Given the description of an element on the screen output the (x, y) to click on. 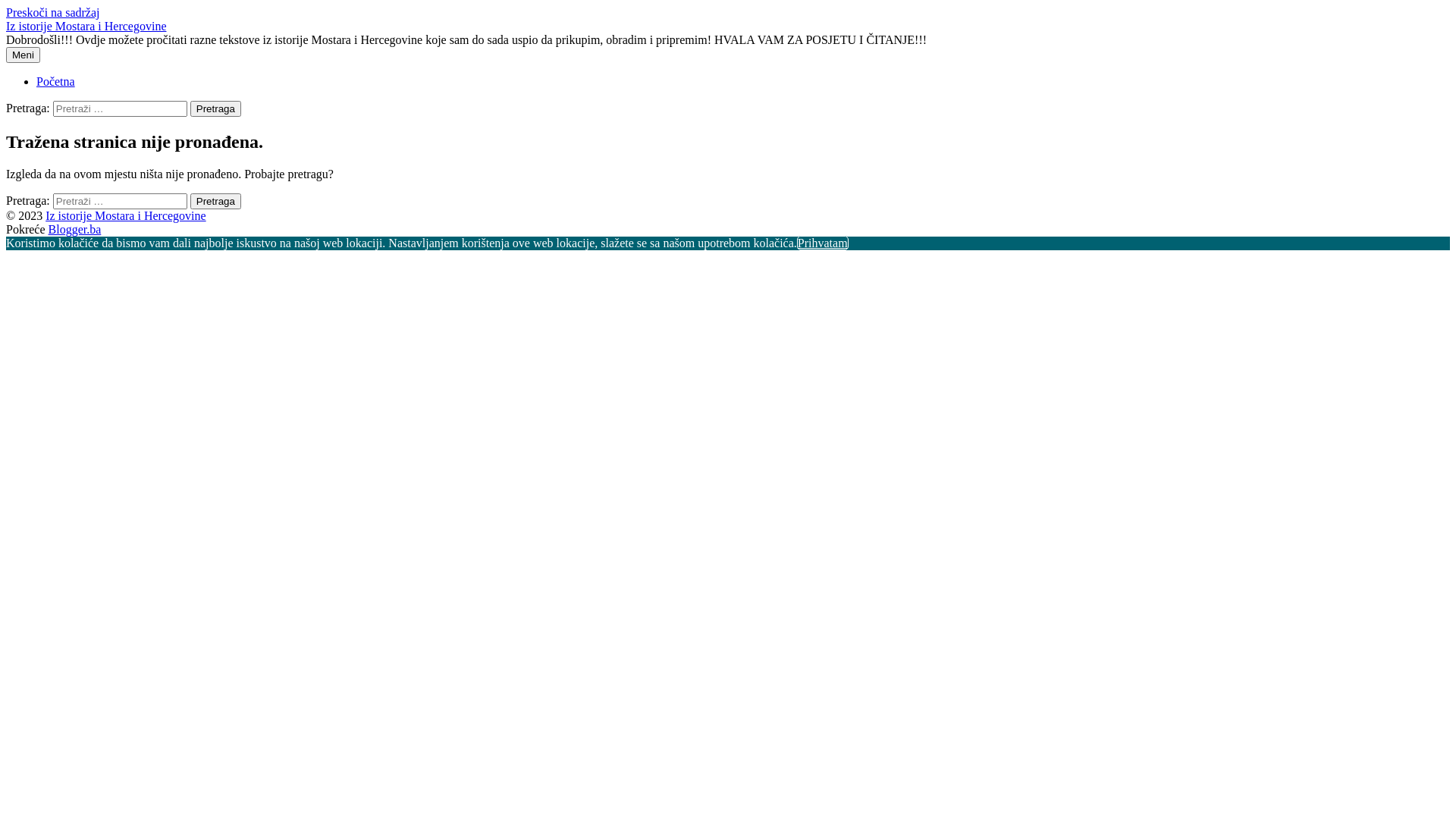
Meni Element type: text (23, 54)
Blogger.ba Element type: text (74, 228)
Iz istorije Mostara i Hercegovine Element type: text (86, 25)
Pretraga Element type: text (215, 108)
Iz istorije Mostara i Hercegovine Element type: text (125, 215)
Prihvatam Element type: text (822, 242)
Pretraga Element type: text (215, 201)
